Given the description of an element on the screen output the (x, y) to click on. 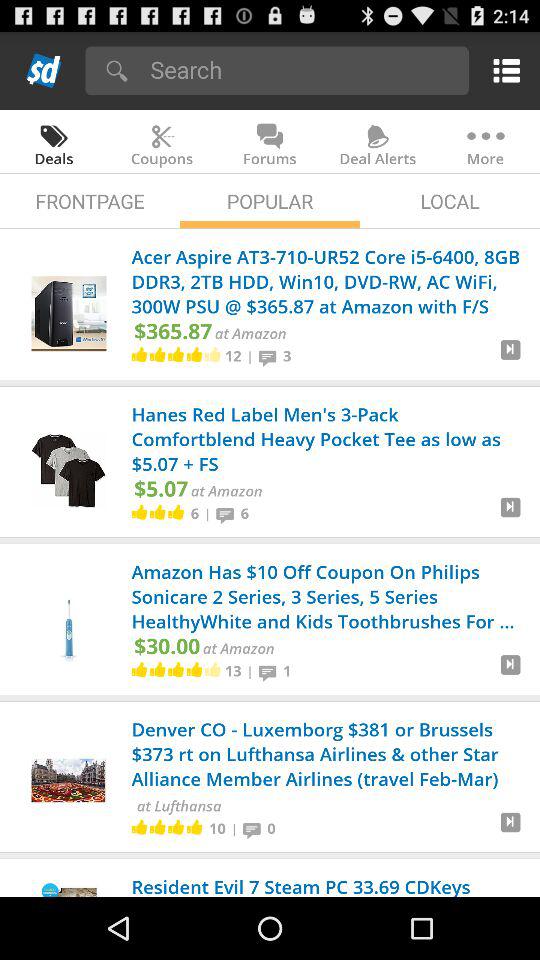
menu option (502, 70)
